Given the description of an element on the screen output the (x, y) to click on. 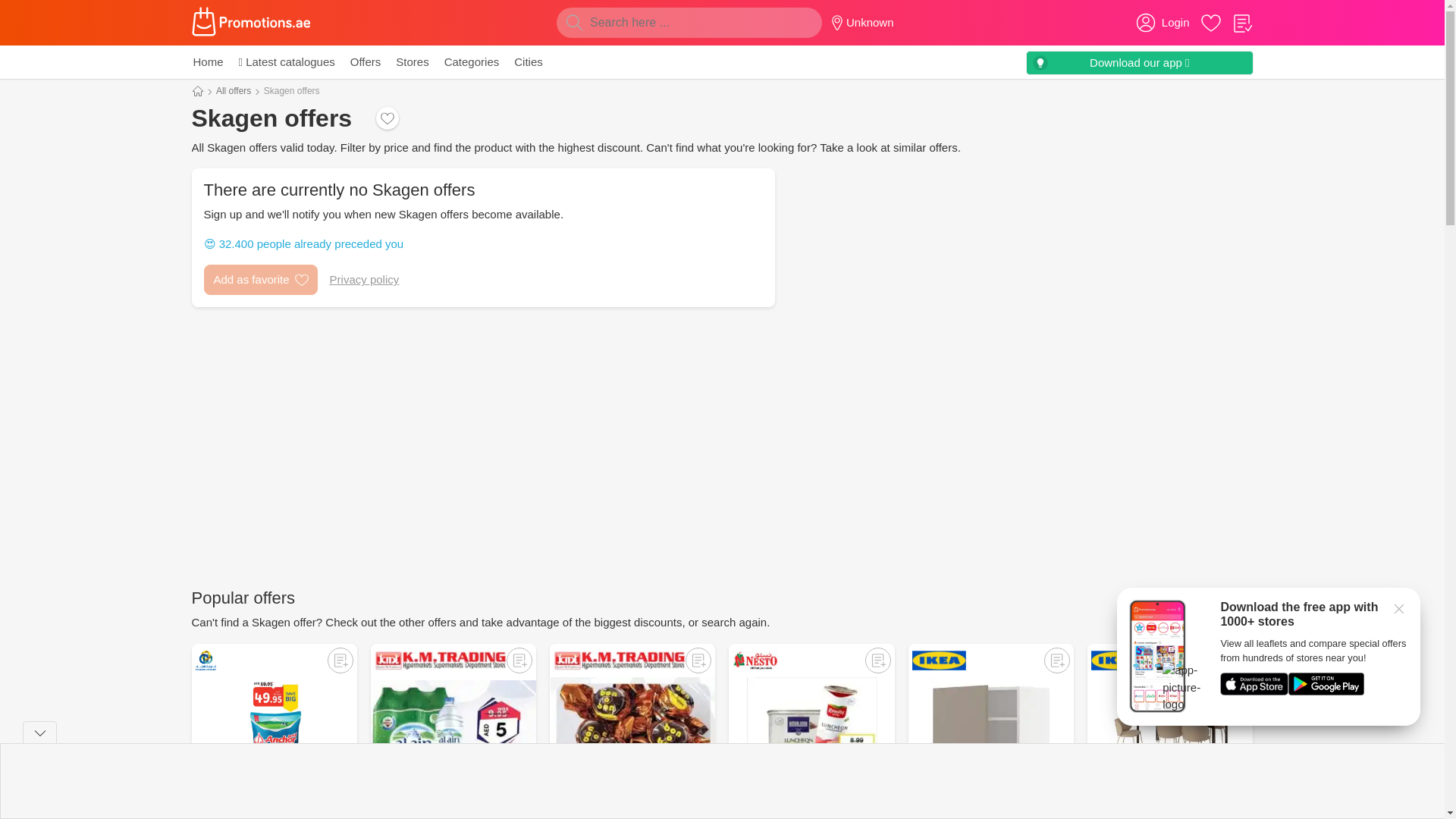
Union Coop Anchor Milk Powder 2.25Kg offer (273, 731)
All offers (232, 90)
Categories (471, 61)
Offers (365, 61)
KM Trading Al ain mineral water 1.5 Litre x 6 pcs offer (453, 731)
Stores (411, 61)
Add as favorite (260, 279)
Cities (528, 61)
